Given the description of an element on the screen output the (x, y) to click on. 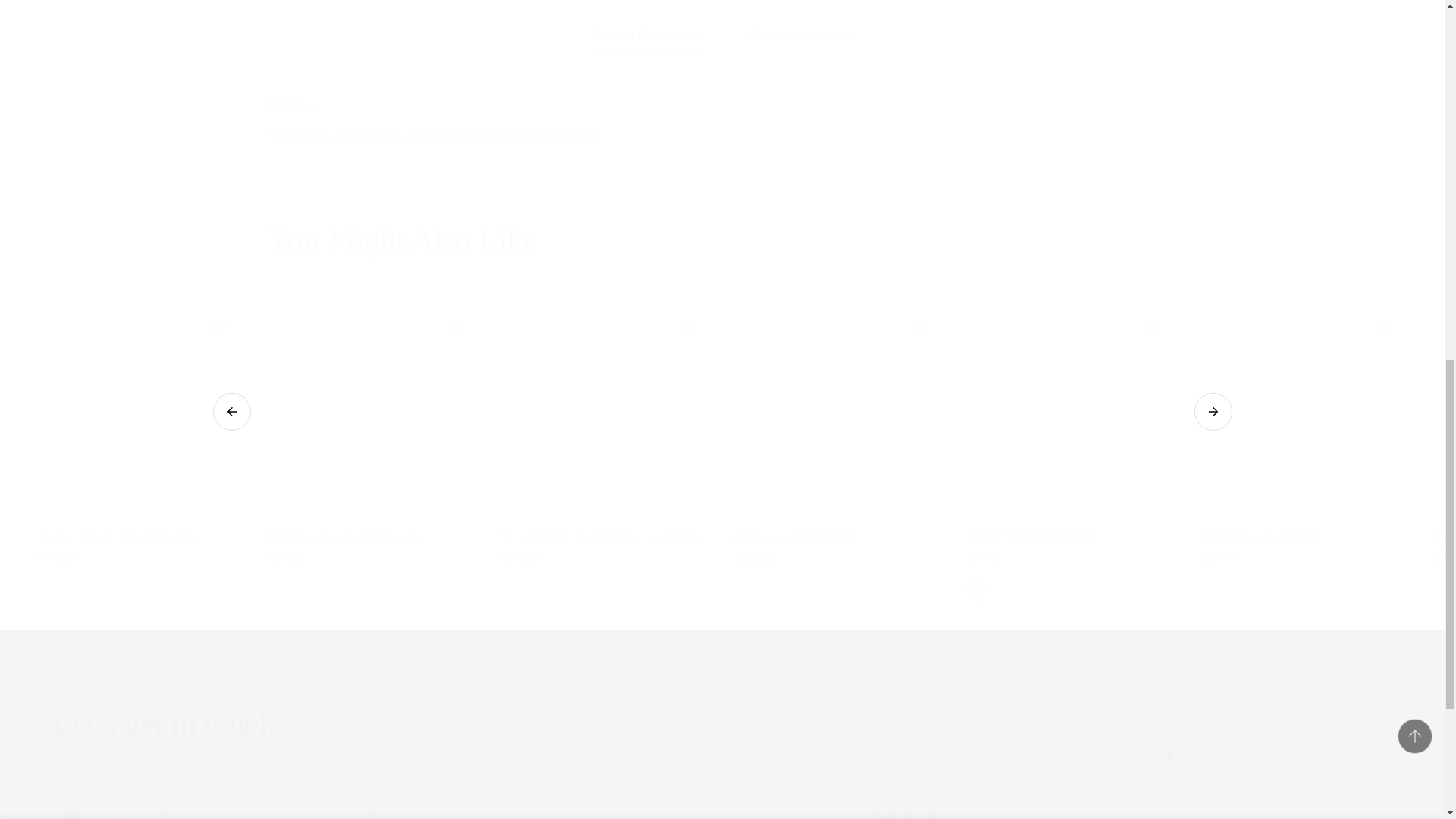
Our store (1269, 740)
1 (990, 28)
You Might Also Like (721, 239)
